Given the description of an element on the screen output the (x, y) to click on. 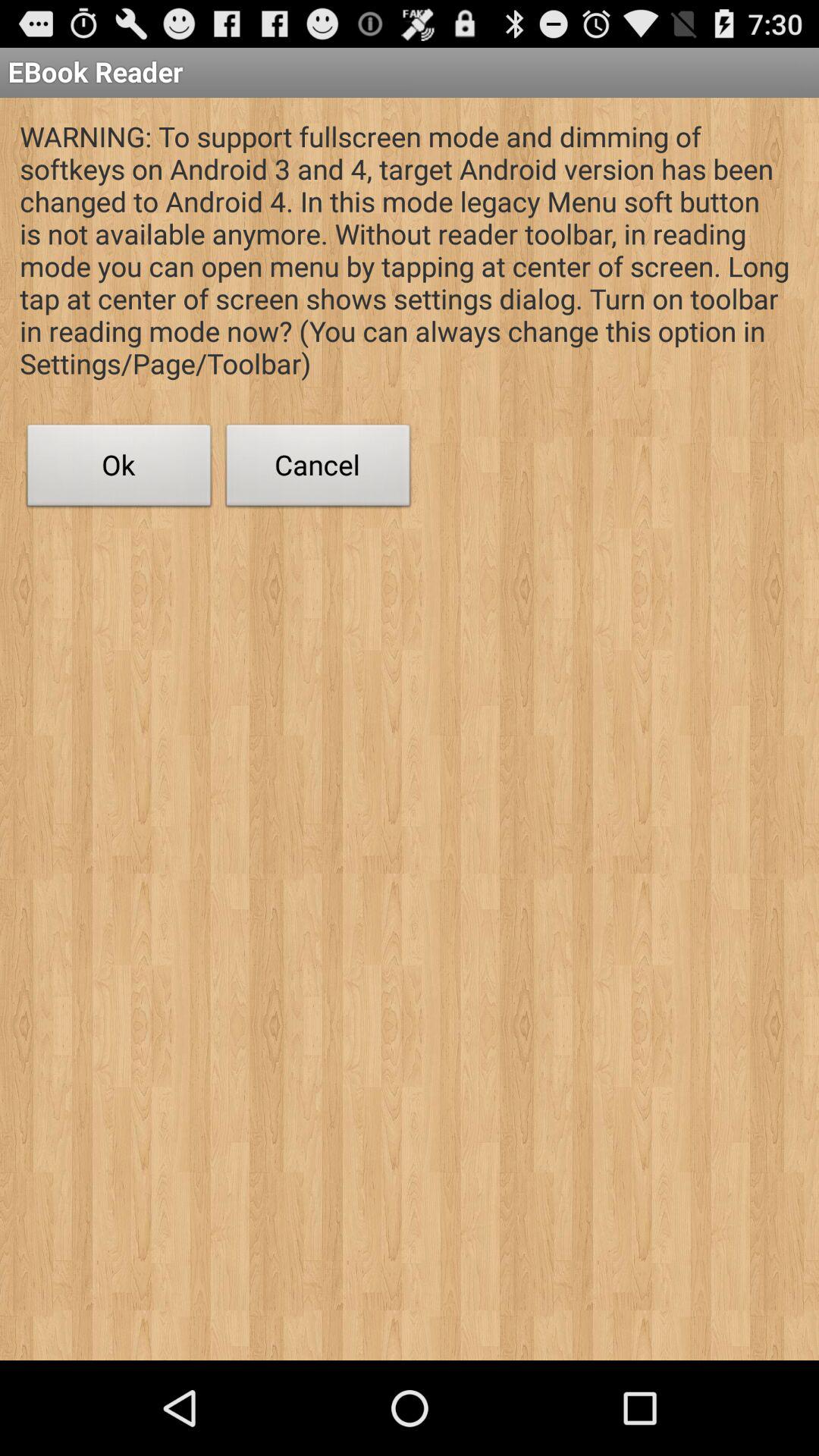
scroll until the ok icon (118, 469)
